Given the description of an element on the screen output the (x, y) to click on. 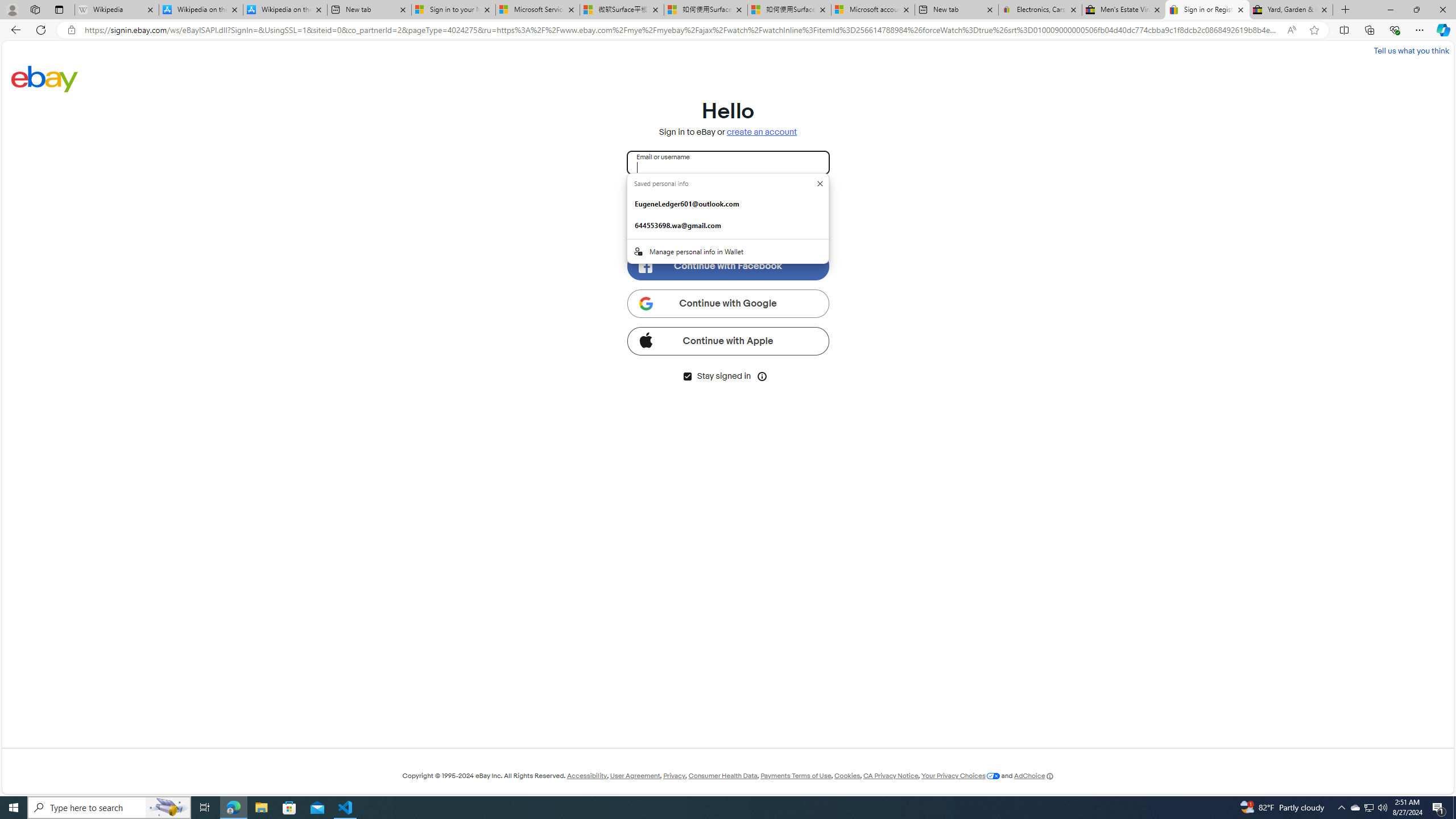
Continue with Facebook (727, 266)
Stay signed in (687, 376)
Email or username (727, 162)
eBay Home (44, 78)
eBay Home (44, 78)
Tell us what you think - Link opens in a new window (1410, 50)
Microsoft account | Account Checkup (873, 9)
Continue with Google (727, 303)
Accessibility (586, 775)
644553698.wa@gmail.com. :Basic info suggestion. (727, 225)
